Given the description of an element on the screen output the (x, y) to click on. 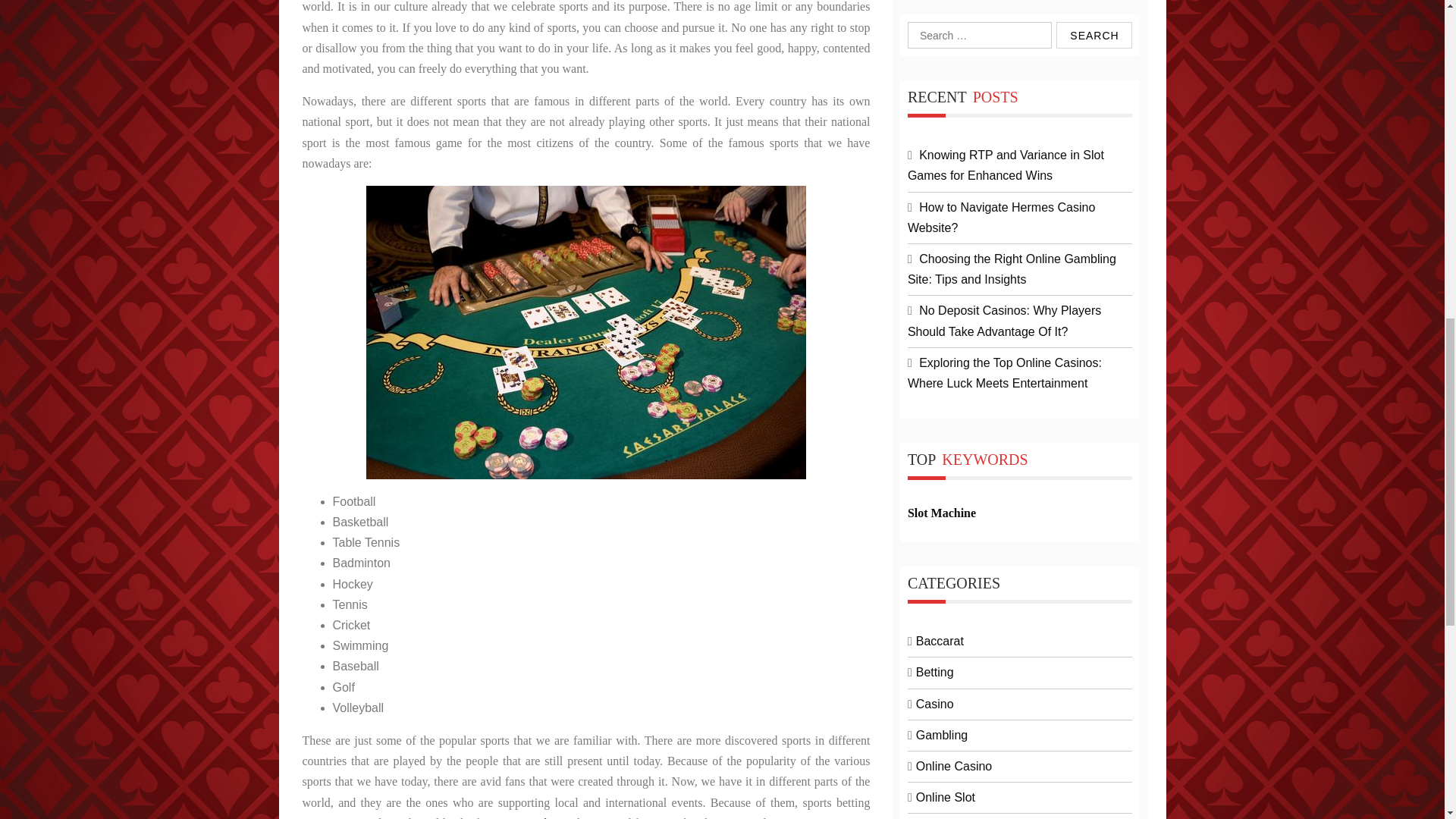
Search (1094, 35)
Search (1094, 35)
Playing Online Casino Games (586, 332)
